Given the description of an element on the screen output the (x, y) to click on. 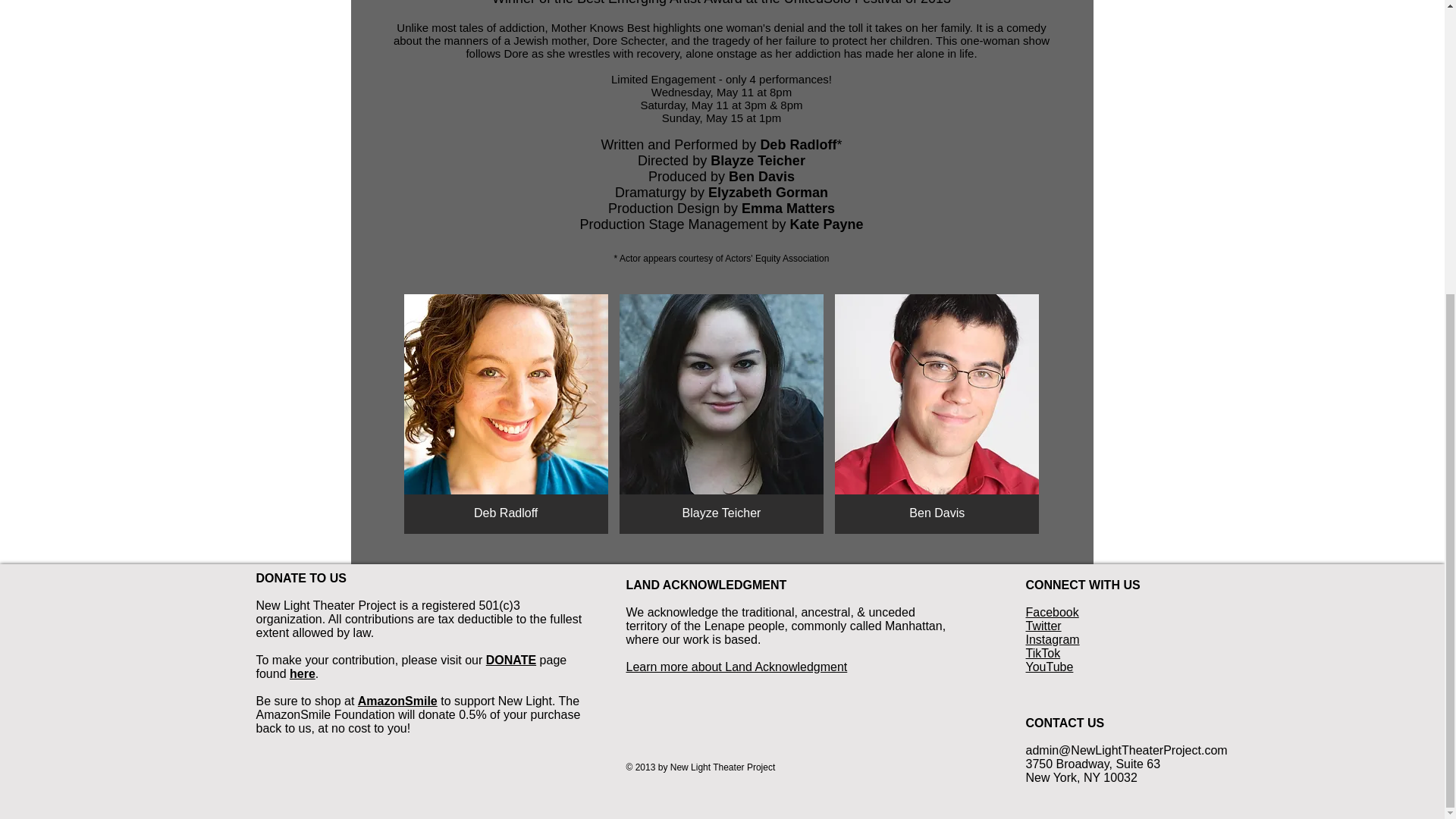
Learn more about Land Acknowledgment (736, 666)
Facebook (1051, 612)
TikTok (1042, 653)
AmazonSmile (398, 700)
Instagram (1051, 639)
YouTube (1049, 666)
here (302, 673)
DONATE (510, 659)
Twitter (1043, 625)
